Given the description of an element on the screen output the (x, y) to click on. 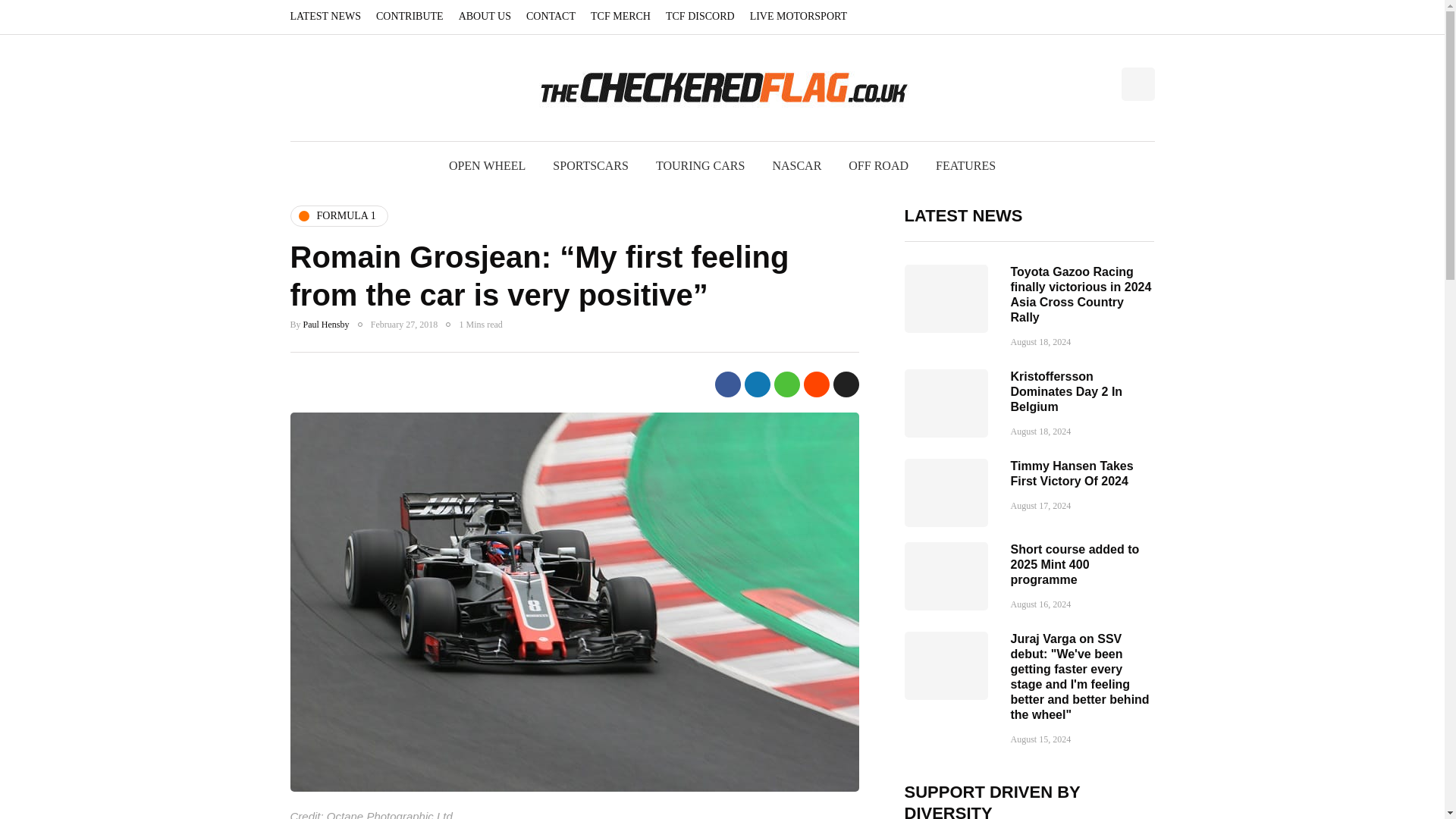
Posts by Paul Hensby (325, 323)
CONTACT (550, 17)
NASCAR (796, 164)
OFF ROAD (877, 164)
Share on Reddit (816, 384)
Share to WhatsApp (786, 384)
CONTRIBUTE (409, 17)
TCF DISCORD (700, 17)
OPEN WHEEL (486, 164)
SPORTSCARS (590, 164)
